Given the description of an element on the screen output the (x, y) to click on. 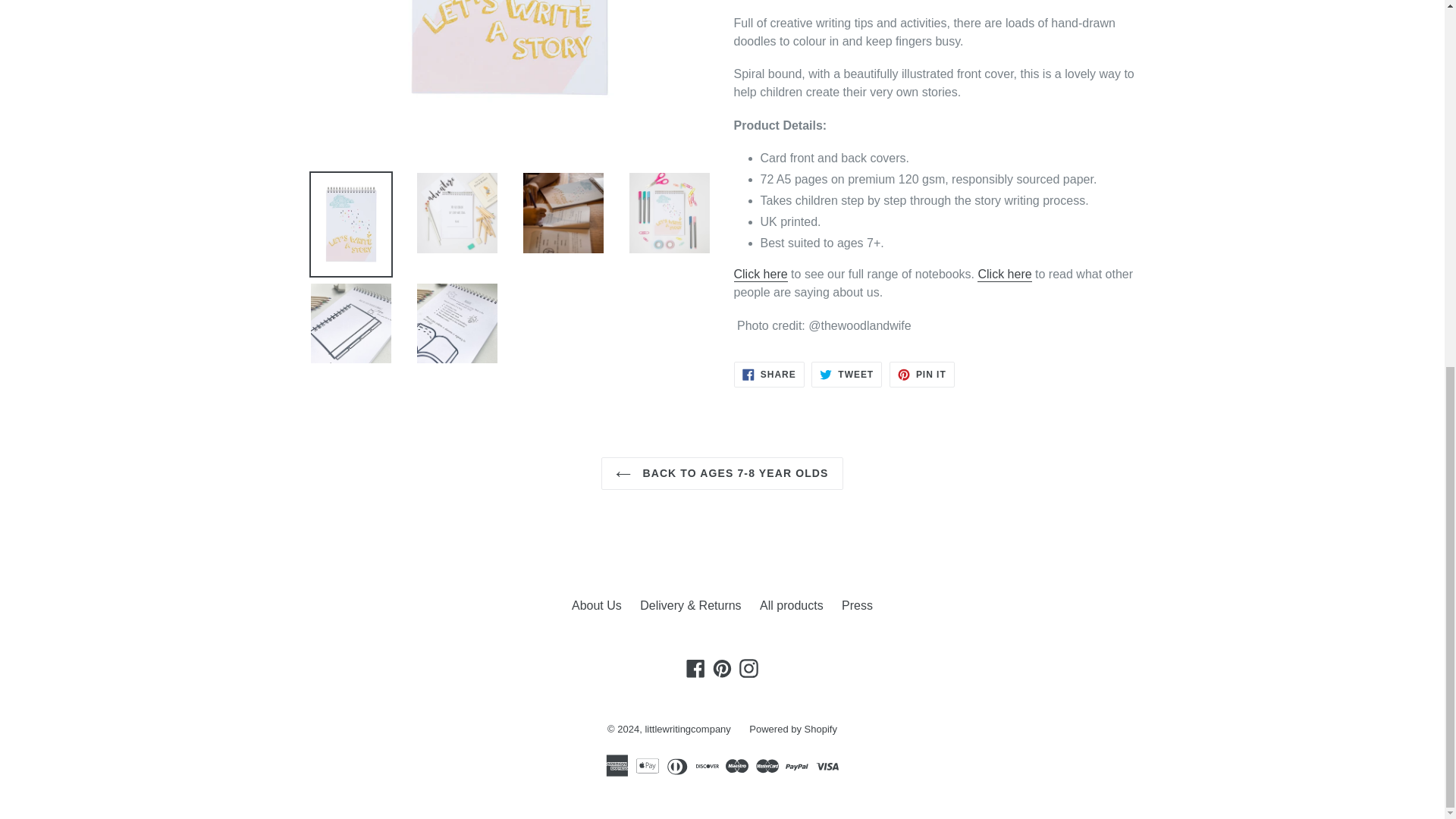
Share on Facebook (769, 374)
Activity Notebooks for kids (760, 274)
littlewritingcompany on Instagram (748, 668)
littlewritingcompany on Pinterest (721, 668)
Product review Story Writing Notebooks (1003, 274)
littlewritingcompany on Facebook (695, 668)
Pin on Pinterest (922, 374)
Tweet on Twitter (846, 374)
